Given the description of an element on the screen output the (x, y) to click on. 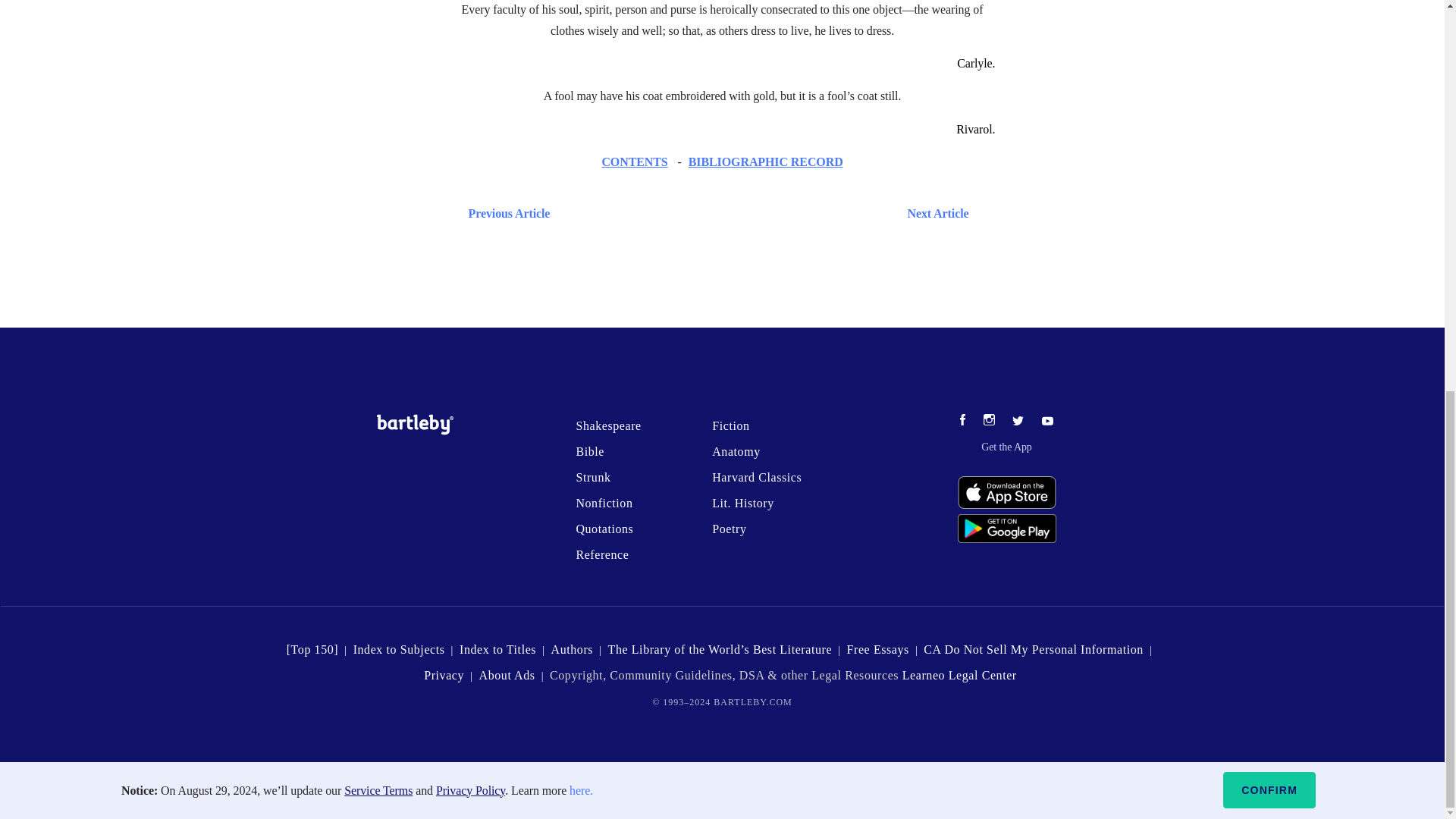
Previous Article (505, 213)
Poetry (728, 528)
Reference (601, 554)
Strunk (592, 477)
Next Article (766, 213)
Fiction (730, 425)
Shakespeare (607, 425)
Quotations (604, 528)
Lit. History (742, 502)
Nonfiction (603, 502)
